Given the description of an element on the screen output the (x, y) to click on. 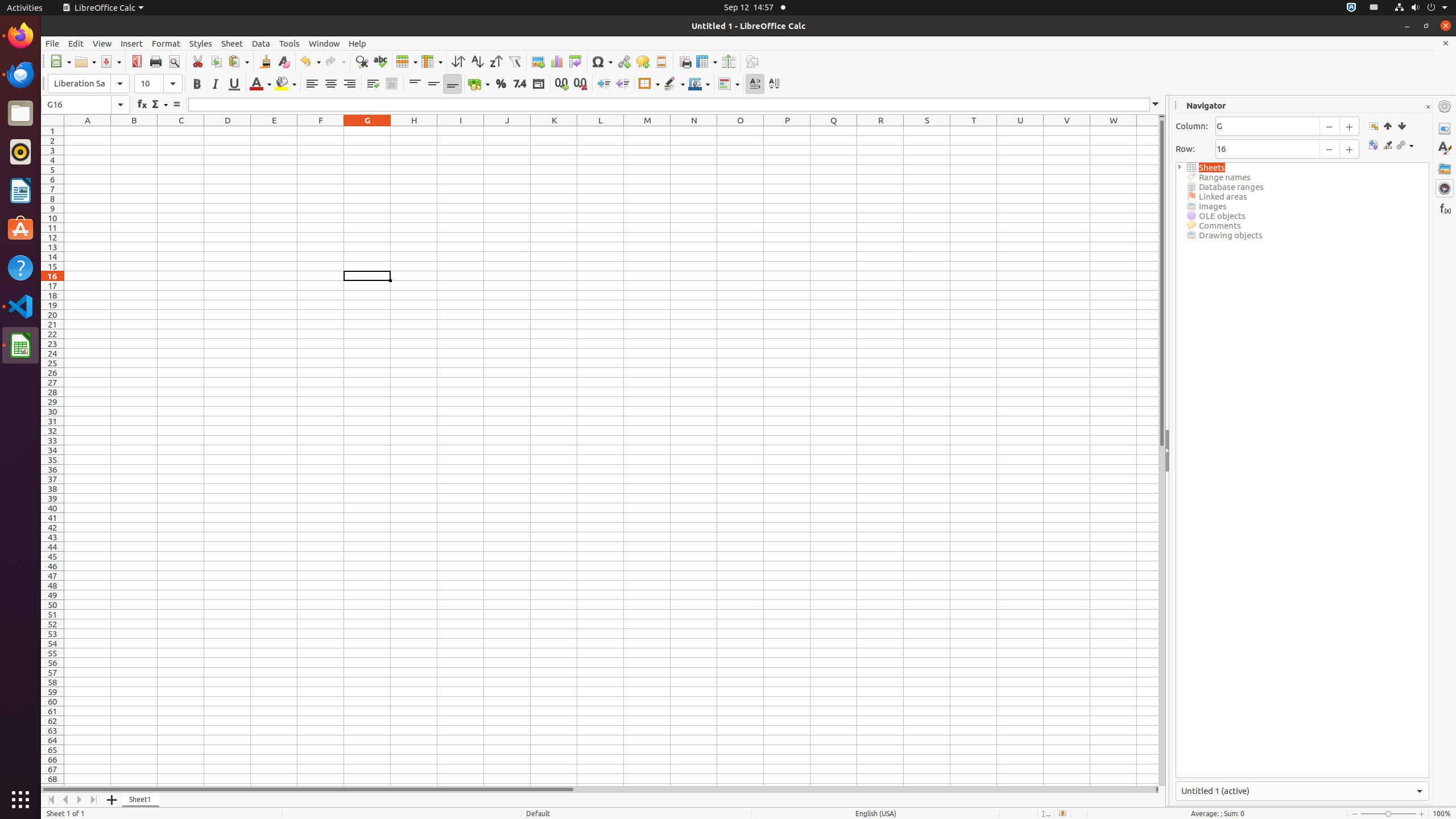
F1 Element type: table-cell (320, 130)
Close Sidebar Deck Element type: push-button (1427, 106)
